Given the description of an element on the screen output the (x, y) to click on. 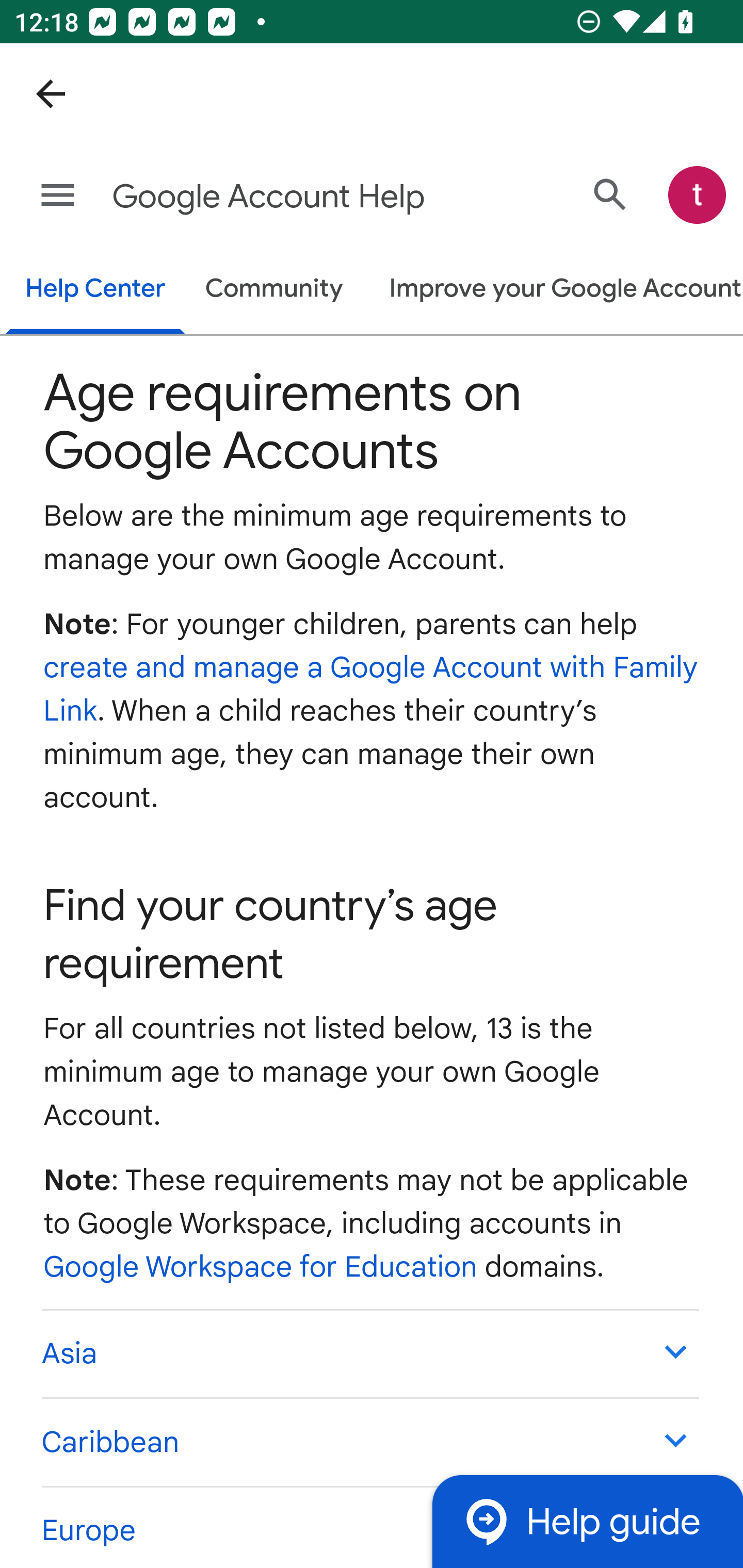
Navigate up (50, 93)
Main menu (58, 195)
Google Account Help (292, 197)
Search Help Center (610, 195)
Help Center (94, 290)
Community (274, 289)
Improve your Google Account (555, 289)
Google Workspace for Education (260, 1267)
Asia (369, 1352)
Caribbean (369, 1442)
Help guide (587, 1520)
Europe (369, 1525)
